Given the description of an element on the screen output the (x, y) to click on. 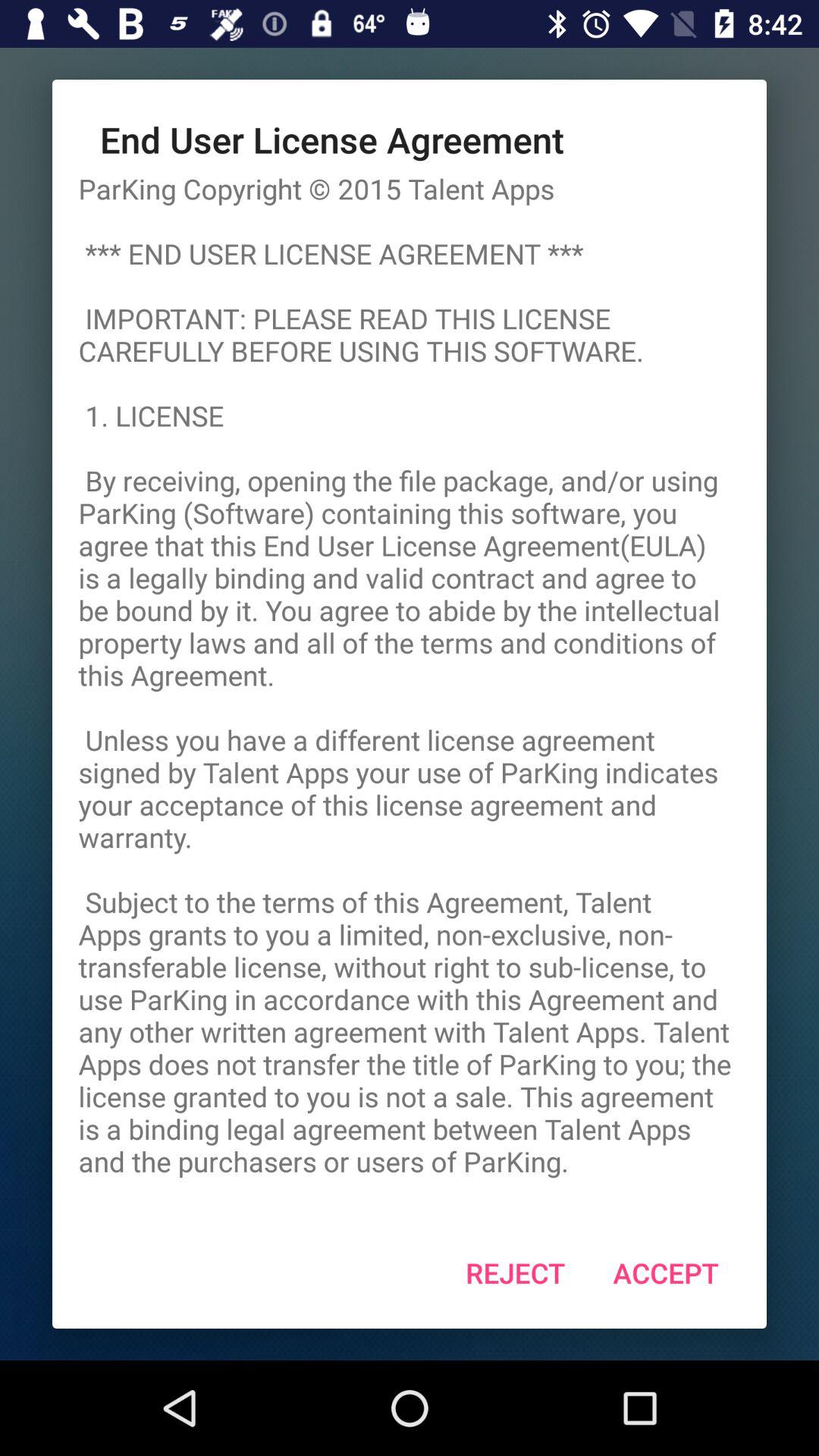
choose the button at the bottom right corner (665, 1272)
